Given the description of an element on the screen output the (x, y) to click on. 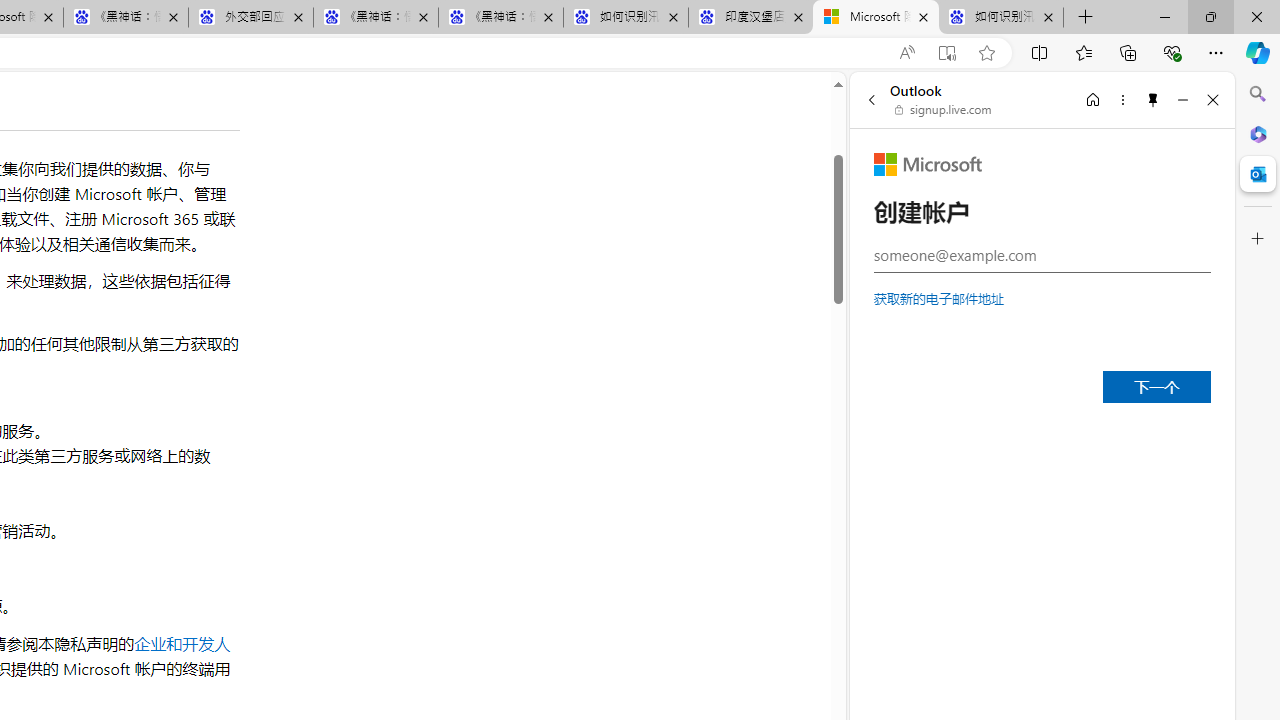
signup.live.com (943, 110)
